Given the description of an element on the screen output the (x, y) to click on. 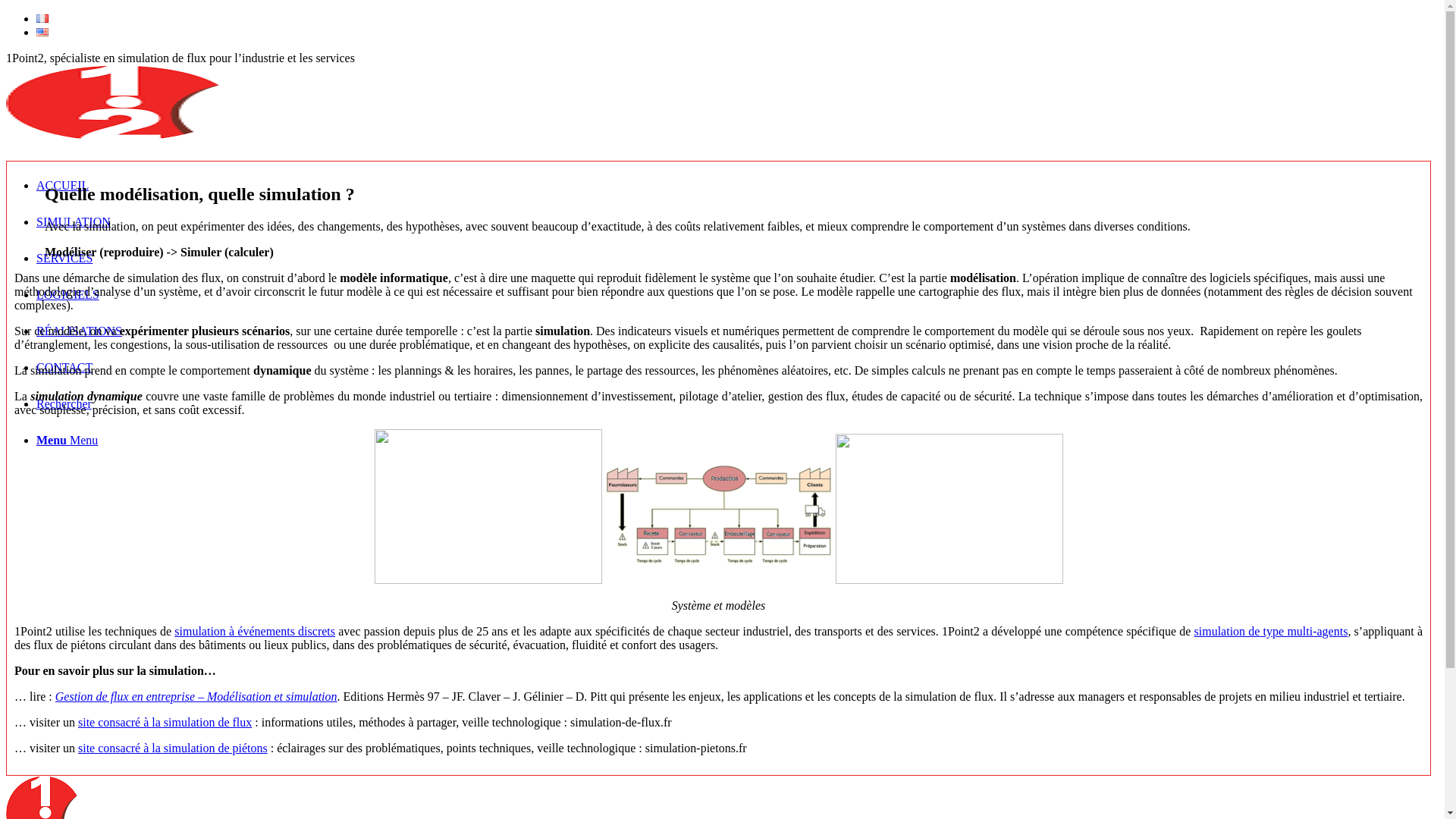
SIMULATION Element type: text (73, 221)
ACCUEIL Element type: text (62, 184)
Menu Menu Element type: text (66, 439)
CONTACT Element type: text (64, 366)
simulation de type multi-agents Element type: text (1271, 630)
LOGICIELS Element type: text (67, 294)
Rechercher Element type: text (63, 403)
SERVICES Element type: text (64, 257)
